Given the description of an element on the screen output the (x, y) to click on. 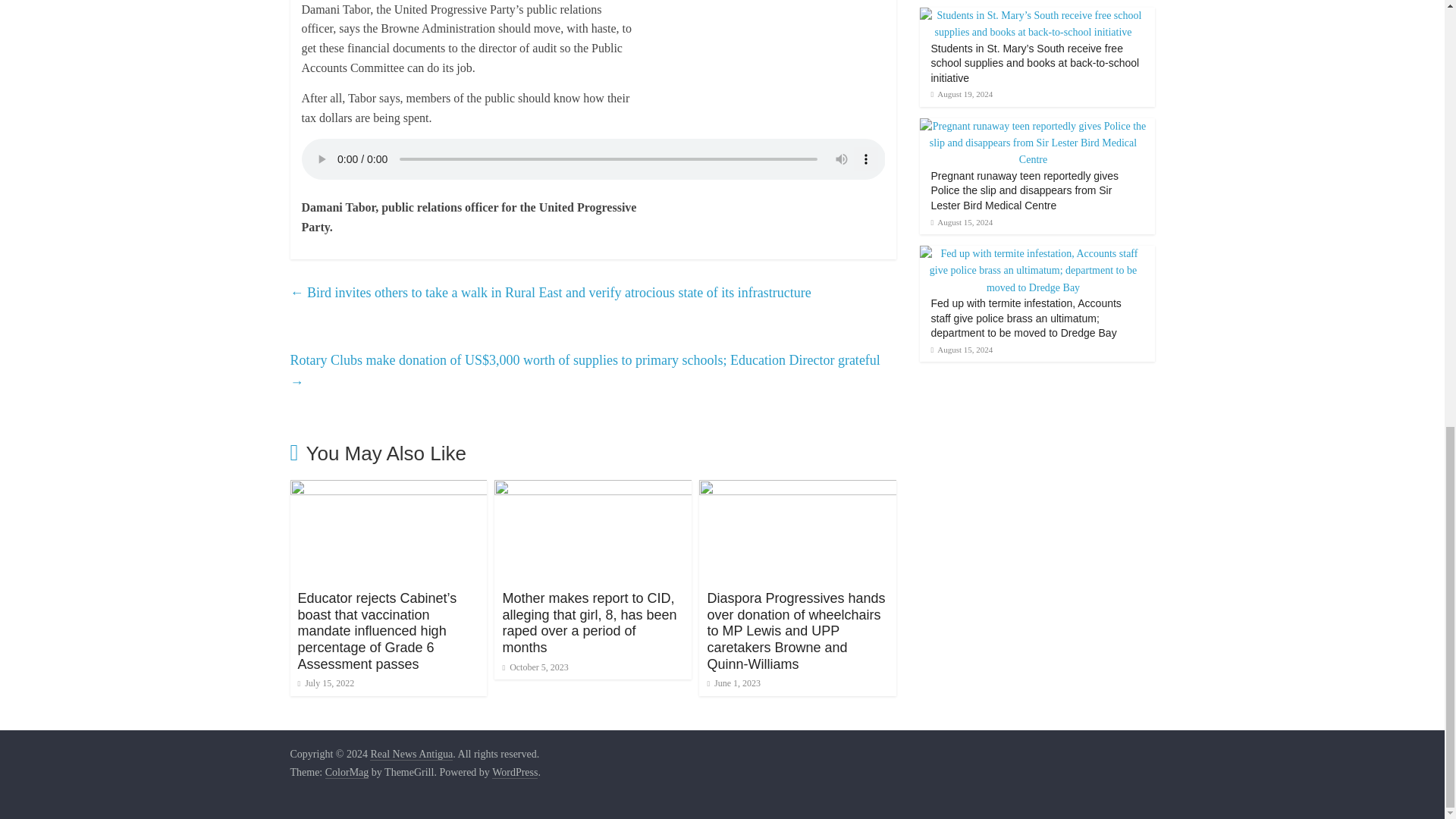
5:12 pm (325, 683)
